Given the description of an element on the screen output the (x, y) to click on. 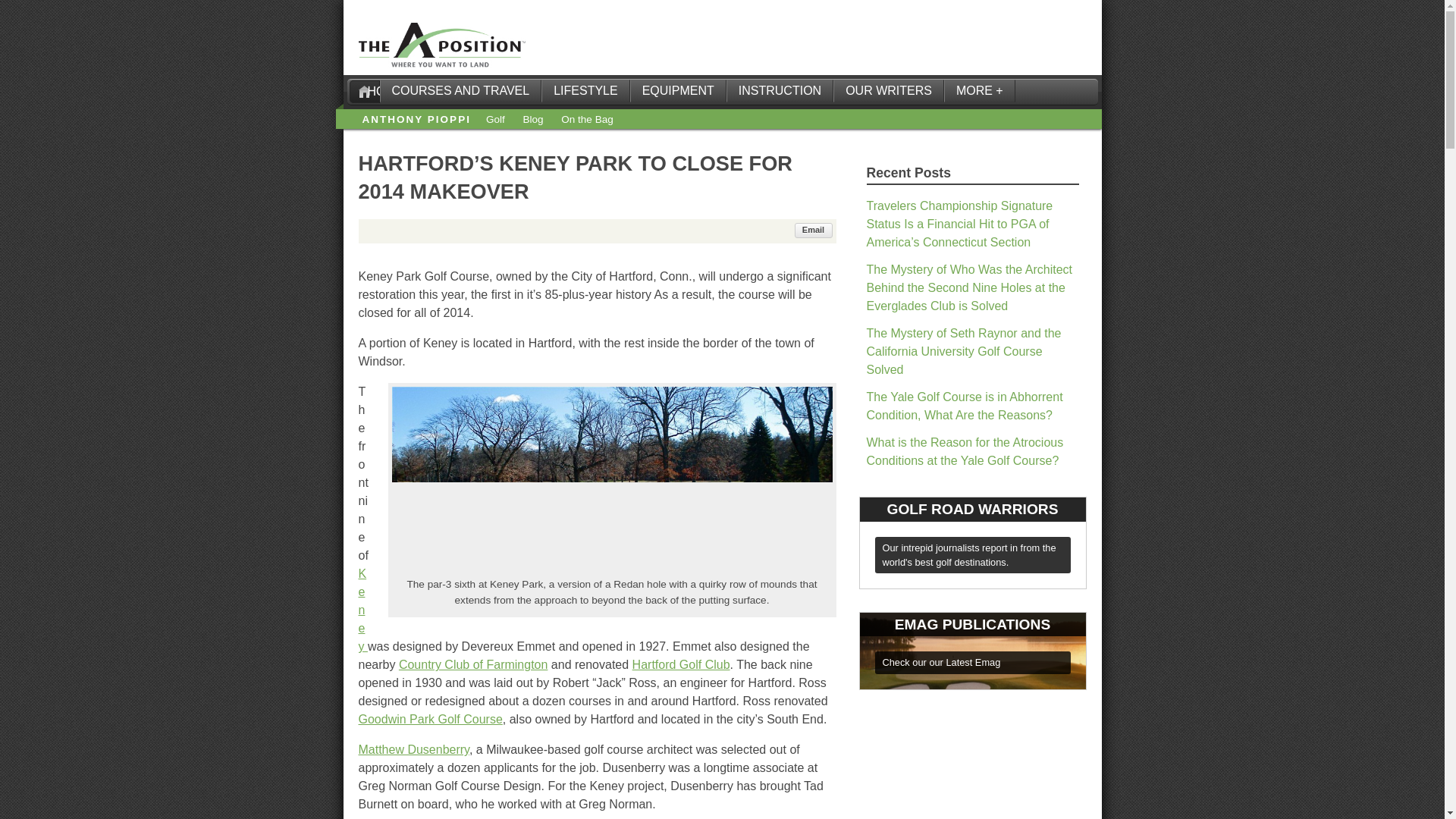
Golf (495, 119)
Matthew Dusenberry (413, 748)
COURSES AND TRAVEL (459, 90)
EQUIPMENT (678, 90)
ANTHONY PIOPPI (416, 119)
LIFESTYLE (584, 90)
HOME (363, 91)
OUR WRITERS (887, 90)
Email (813, 230)
On the Bag (586, 119)
